Given the description of an element on the screen output the (x, y) to click on. 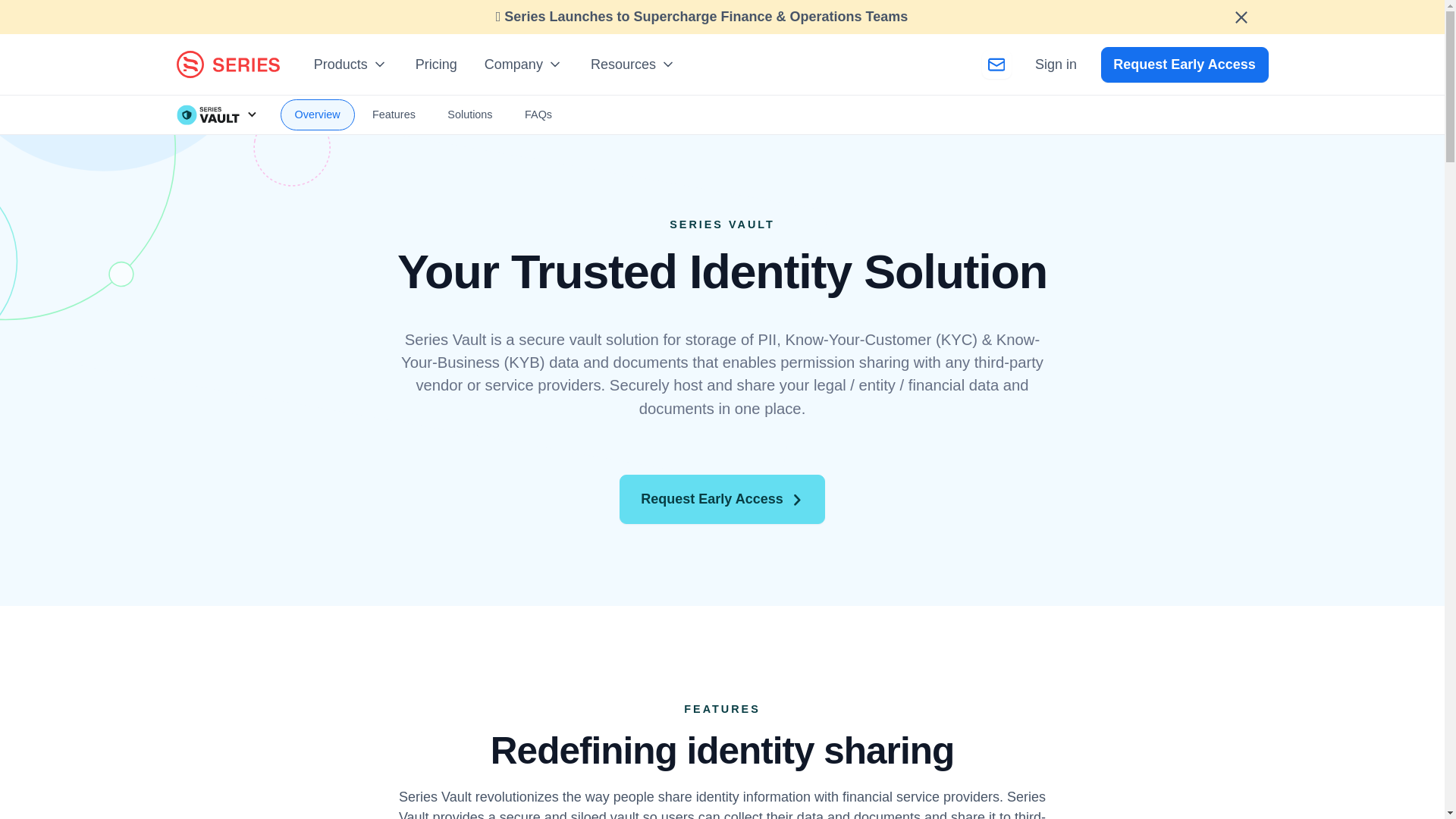
Solutions (469, 115)
Sign in (1056, 64)
Request Early Access (1184, 64)
Request Early Access (722, 499)
Series Financial Logo (227, 63)
Overview (318, 115)
FAQs (538, 115)
Pricing (435, 64)
Features (393, 115)
